Given the description of an element on the screen output the (x, y) to click on. 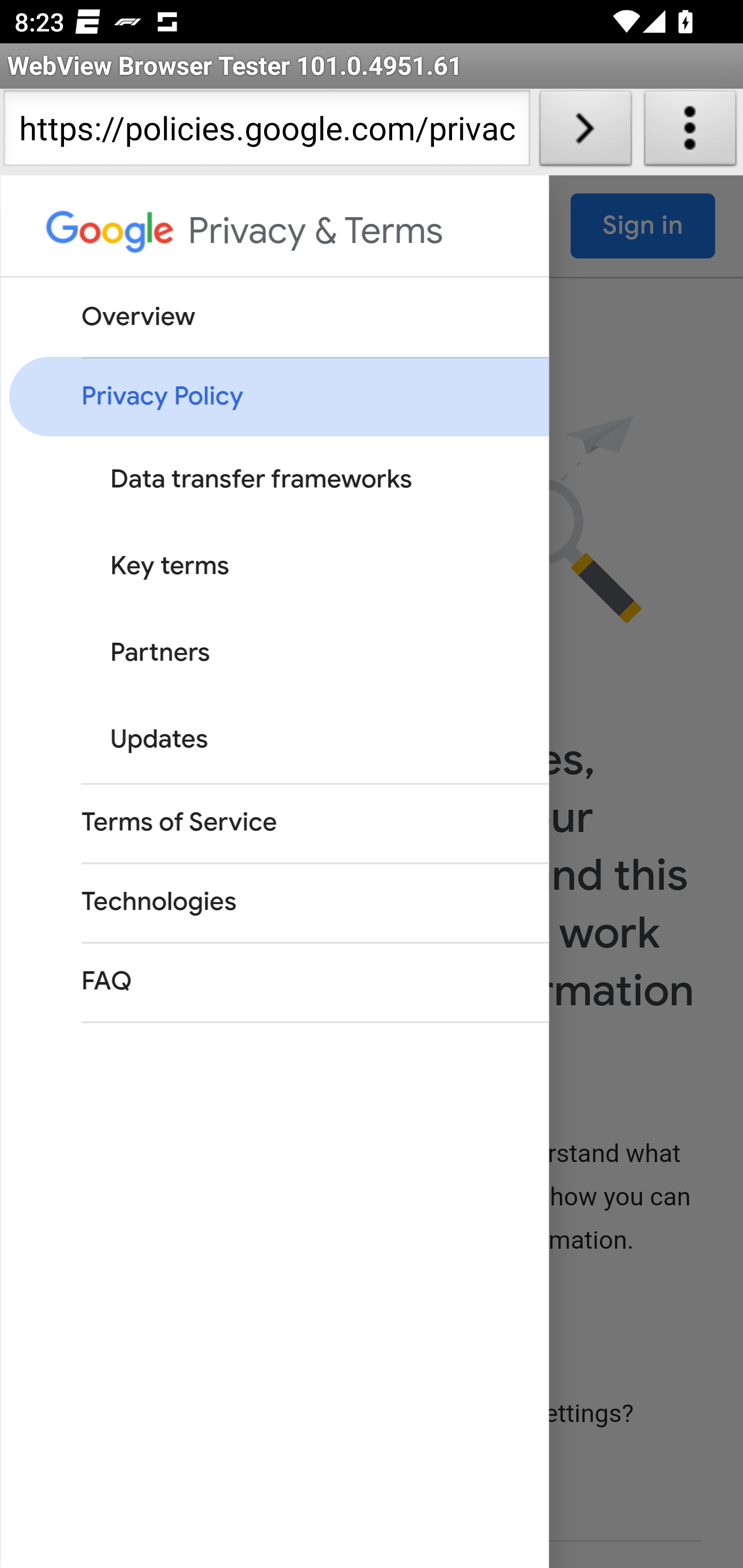
https://policies.google.com/privacy?gl=HK&hl=en (266, 132)
Load URL (585, 132)
About WebView (690, 132)
Google Google Google (111, 237)
Overview (278, 316)
Privacy Policy (278, 396)
Data transfer frameworks (292, 479)
Key terms (292, 565)
Partners (292, 652)
Updates (292, 739)
Terms of Service (278, 822)
Technologies (278, 901)
FAQ (278, 981)
